Given the description of an element on the screen output the (x, y) to click on. 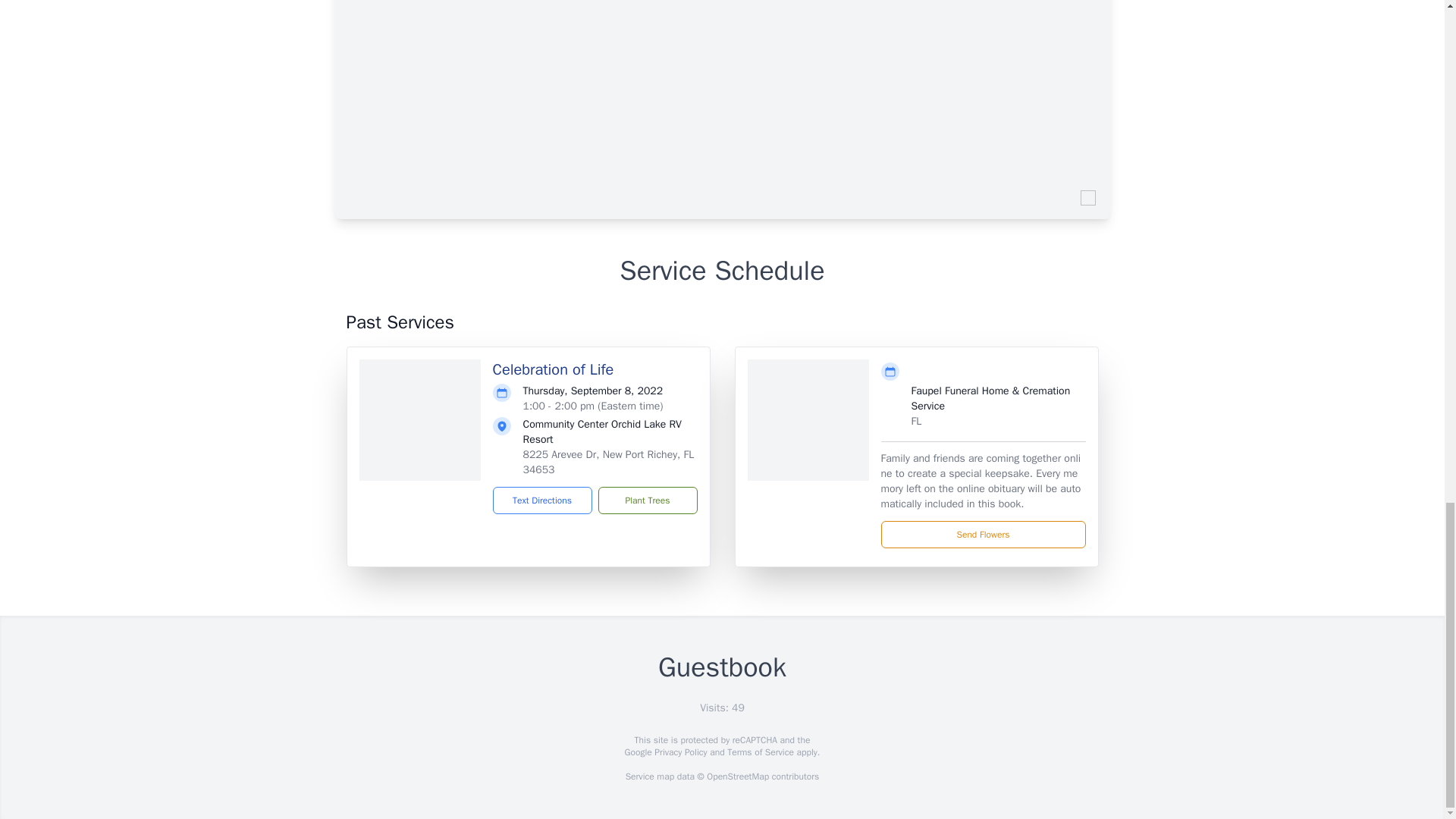
Send Flowers (983, 533)
Text Directions (542, 500)
Privacy Policy (679, 752)
OpenStreetMap (737, 776)
Plant Trees (646, 500)
Terms of Service (759, 752)
8225 Arevee Dr, New Port Richey, FL 34653 (608, 461)
